Given the description of an element on the screen output the (x, y) to click on. 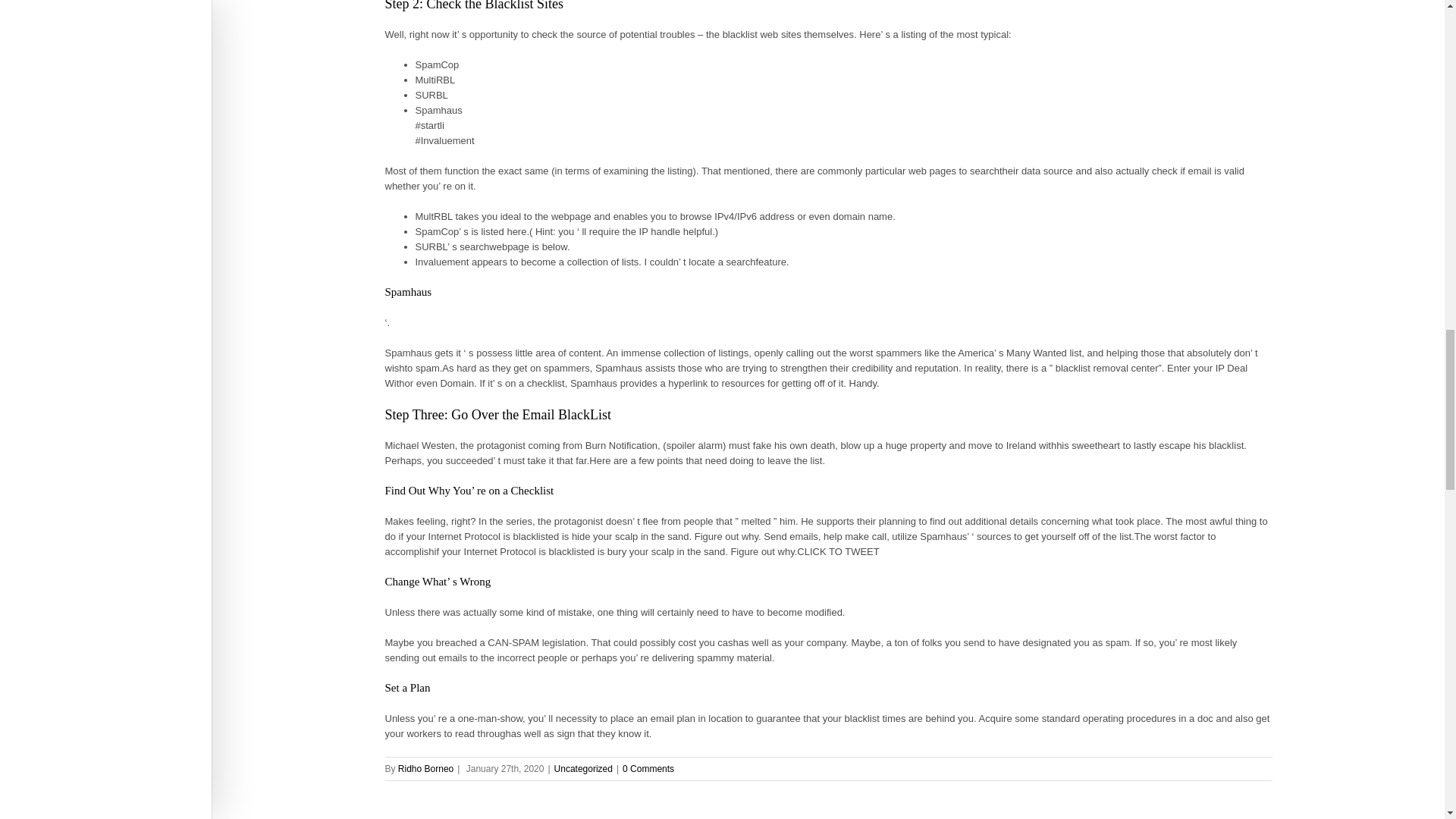
Ridho Borneo (424, 768)
0 Comments (648, 768)
Uncategorized (583, 768)
Posts by Ridho Borneo (424, 768)
